Given the description of an element on the screen output the (x, y) to click on. 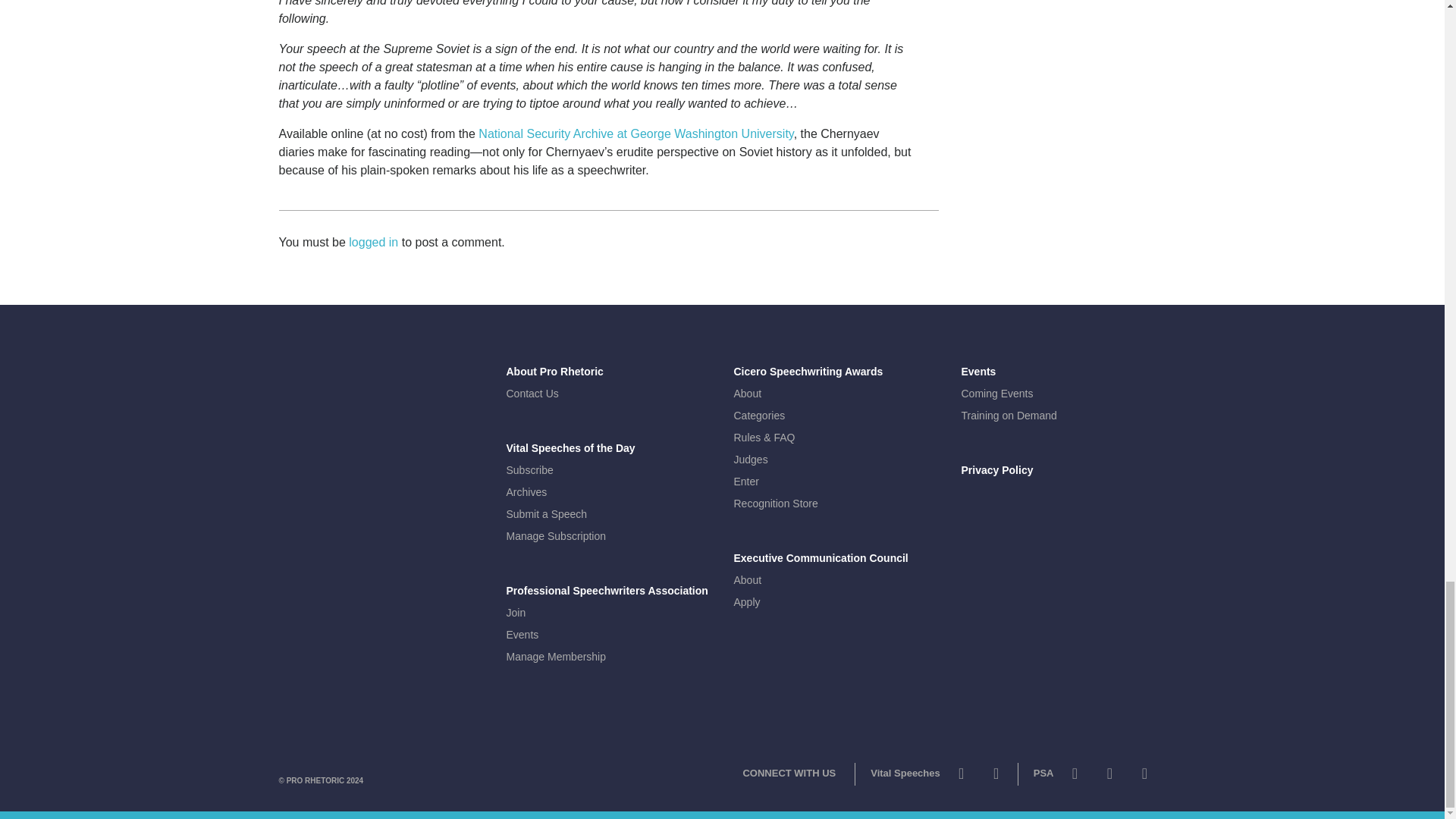
YouTube (1109, 776)
Twitter (1074, 776)
Twitter (961, 776)
LinkedIn (1144, 776)
Facebook (996, 776)
